Given the description of an element on the screen output the (x, y) to click on. 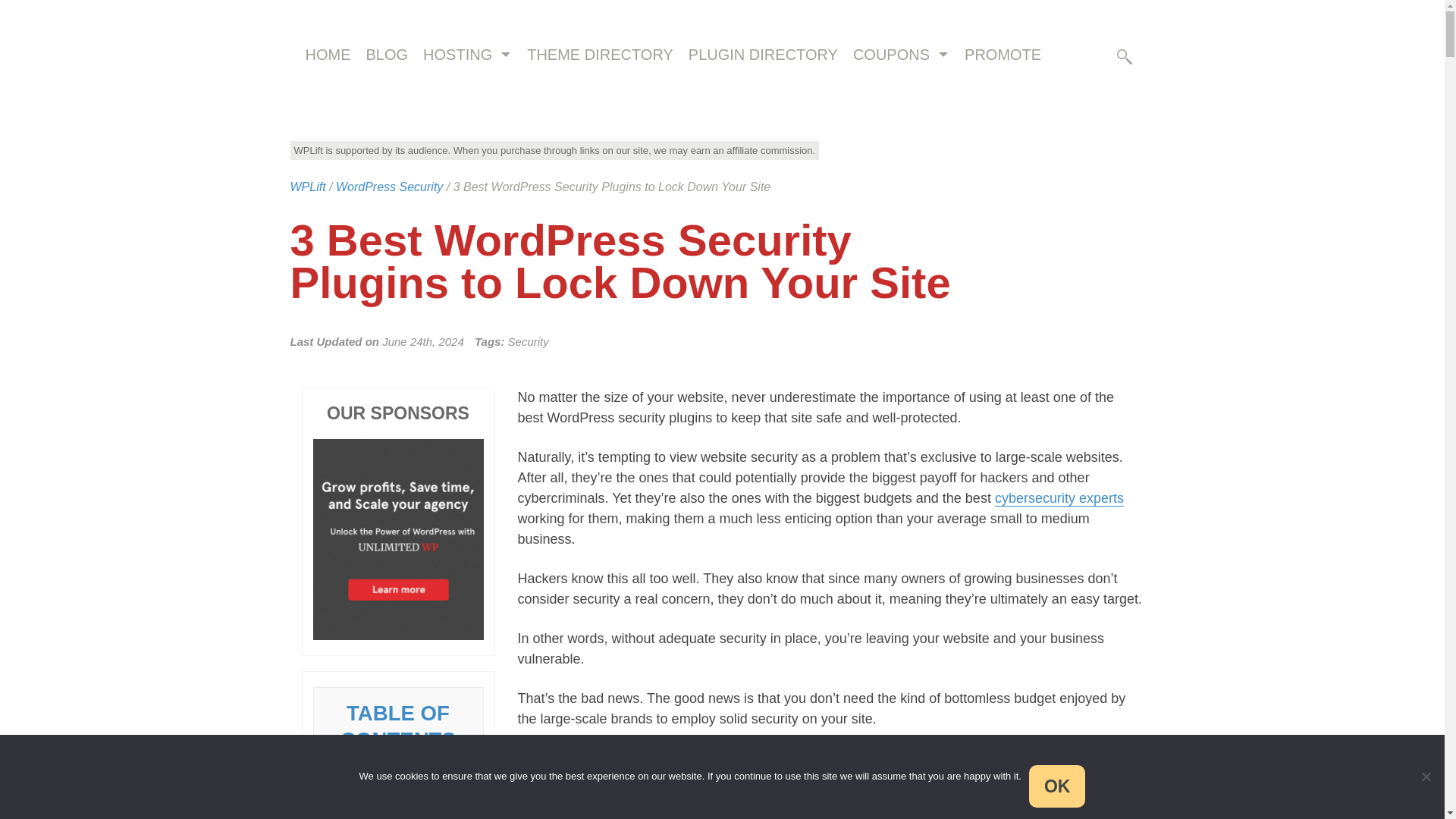
Top 3 Best WordPress Security Plugins (398, 807)
Theme Directory (599, 54)
Plugin Directory (762, 54)
THEME DIRECTORY (599, 54)
PROMOTE (1002, 54)
TOGGLE TABLE OF CONTENT (452, 765)
Coupons (890, 54)
WPLift (306, 186)
Hosting (457, 54)
PLUGIN DIRECTORY (762, 54)
Top 3 Best WordPress Security Plugins (398, 807)
Blog (387, 54)
Promote (1002, 54)
BLOG (387, 54)
COUPONS (890, 54)
